Given the description of an element on the screen output the (x, y) to click on. 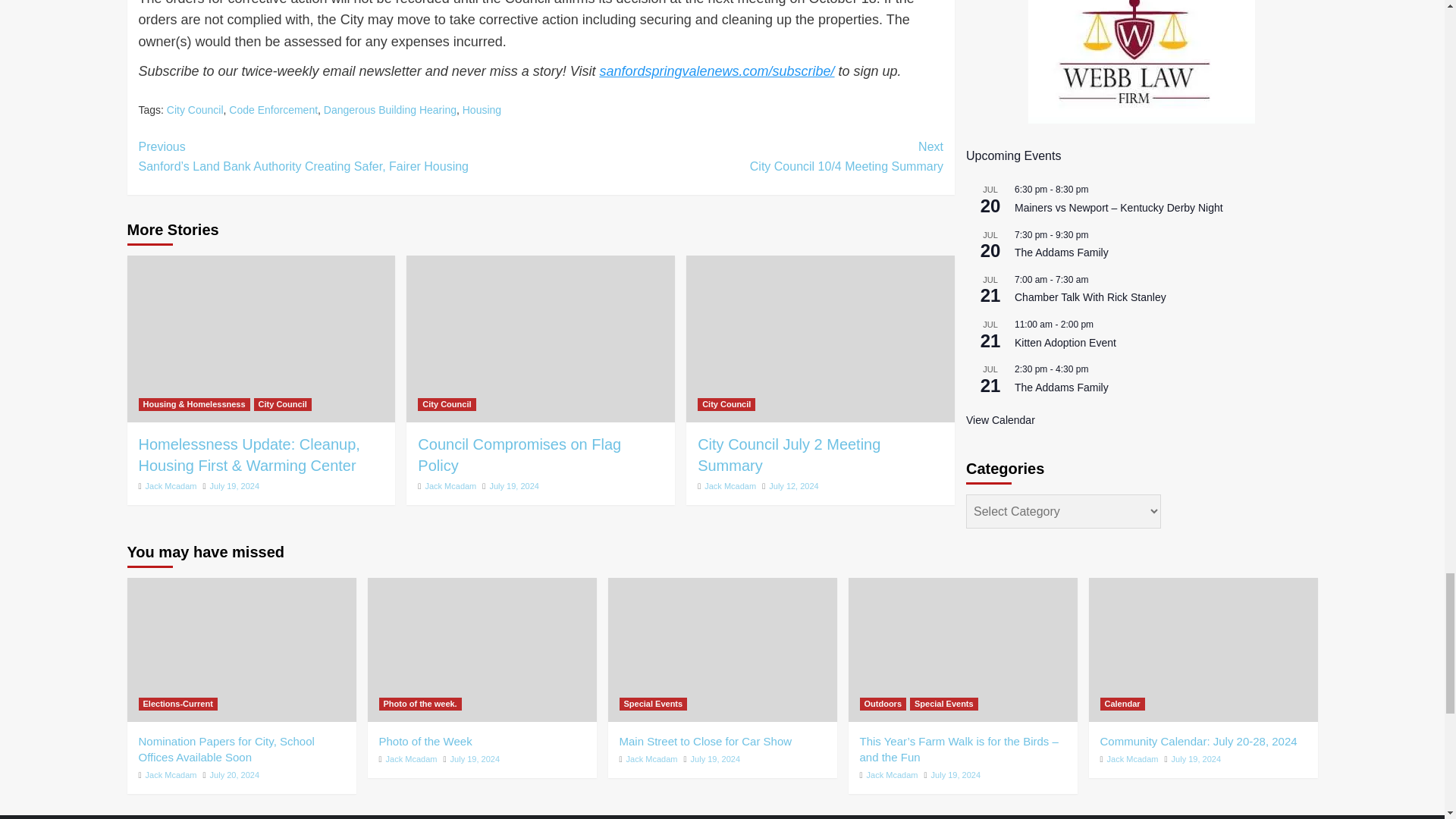
Code Enforcement (272, 110)
City Council (195, 110)
Dangerous Building Hearing (390, 110)
Housing (481, 110)
